Given the description of an element on the screen output the (x, y) to click on. 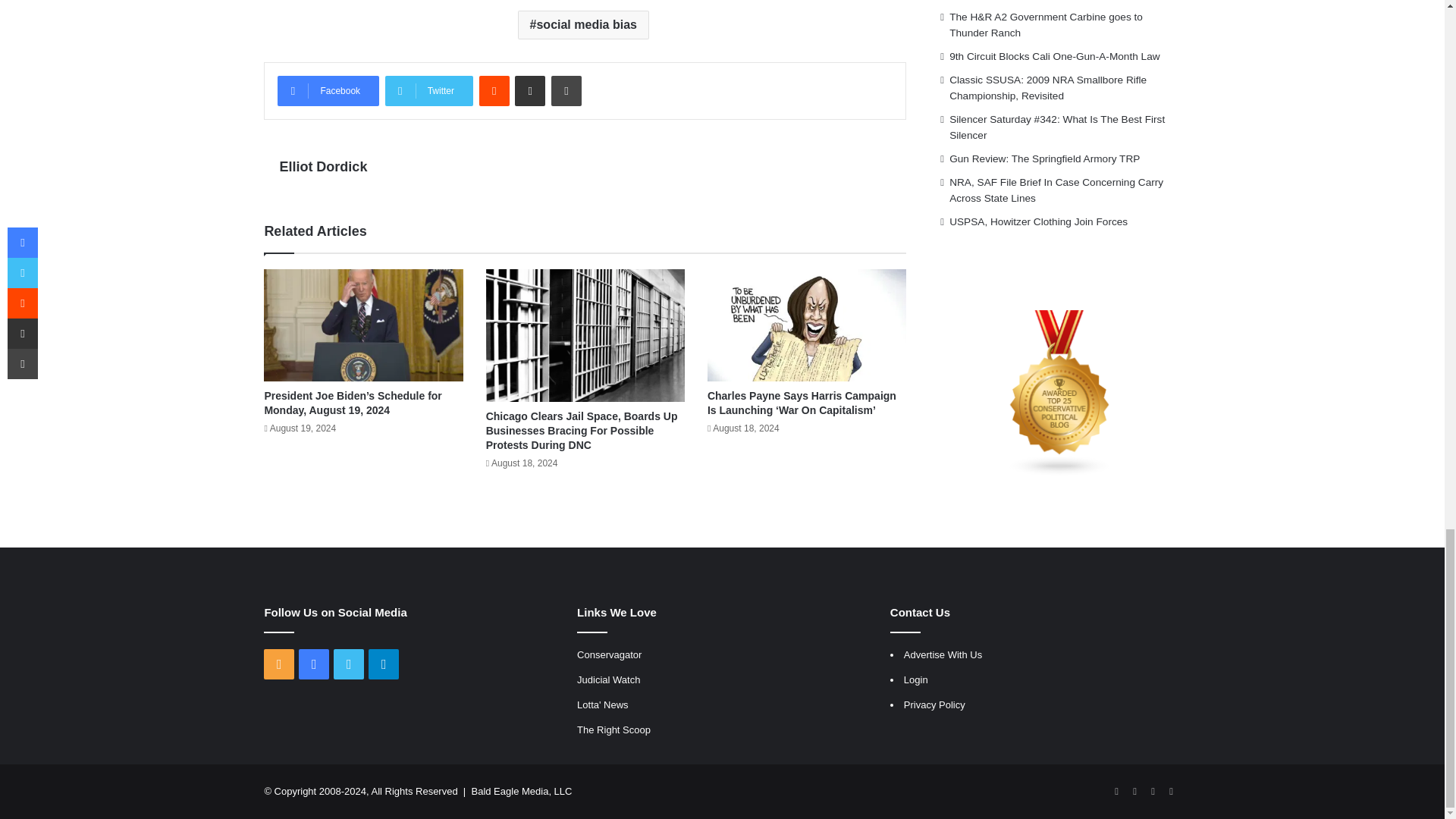
Twitter (429, 91)
Reddit (494, 91)
Facebook (328, 91)
